Given the description of an element on the screen output the (x, y) to click on. 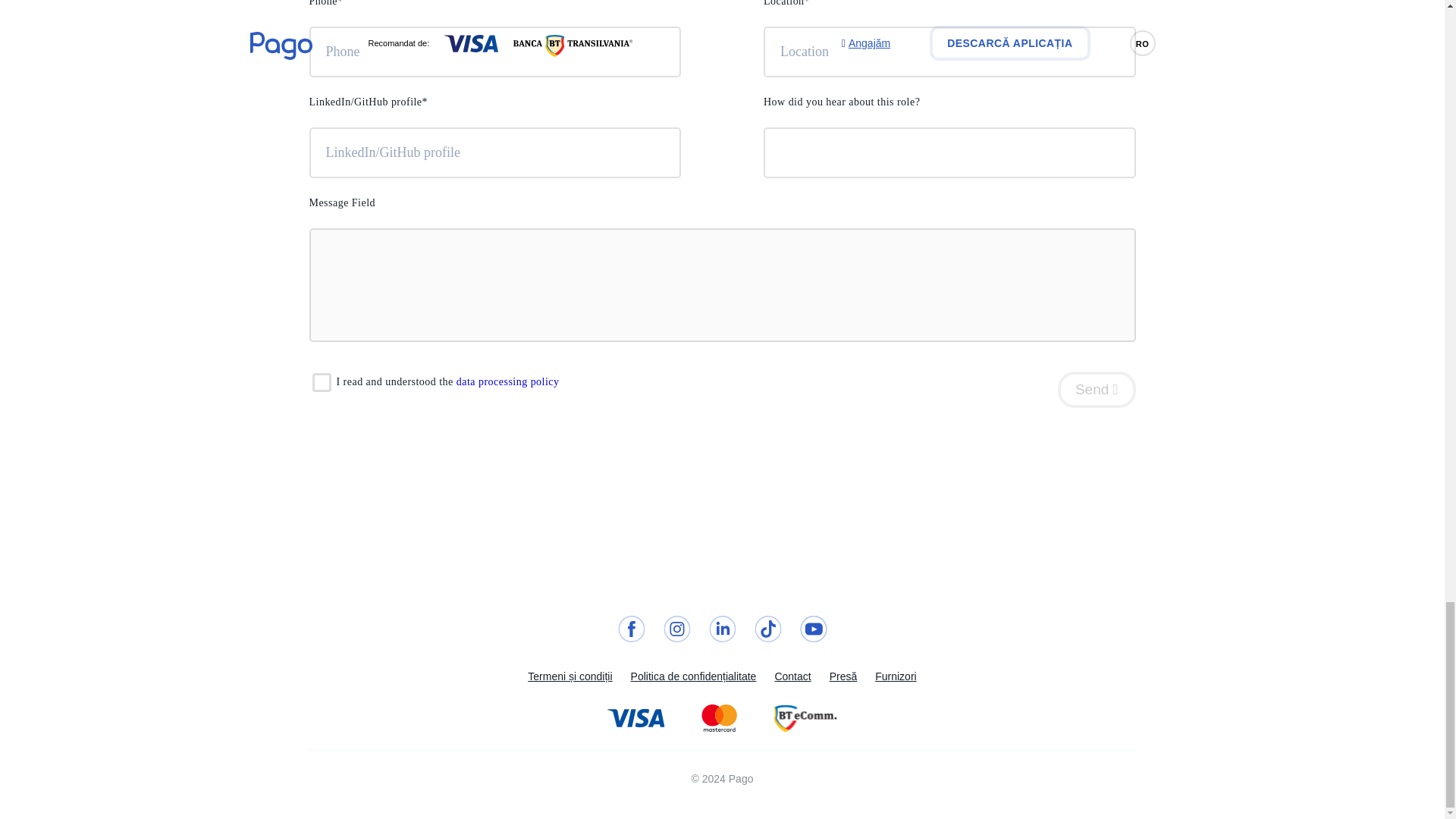
Furnizori (895, 676)
Send (1096, 389)
data processing policy (508, 381)
Contact (792, 676)
on (322, 382)
